Given the description of an element on the screen output the (x, y) to click on. 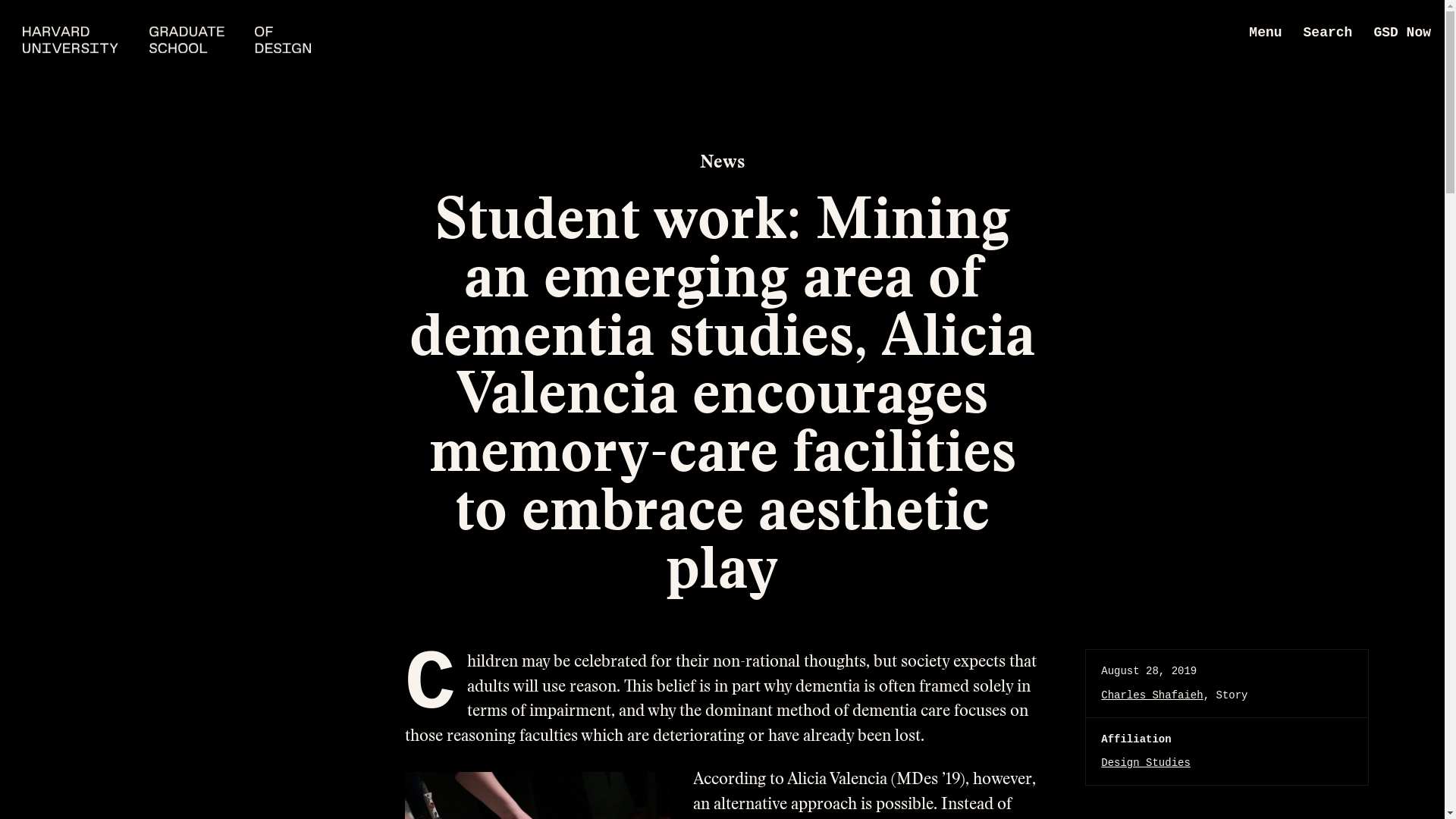
Menu (1265, 32)
GSD Now (1402, 32)
Search (1327, 32)
